Given the description of an element on the screen output the (x, y) to click on. 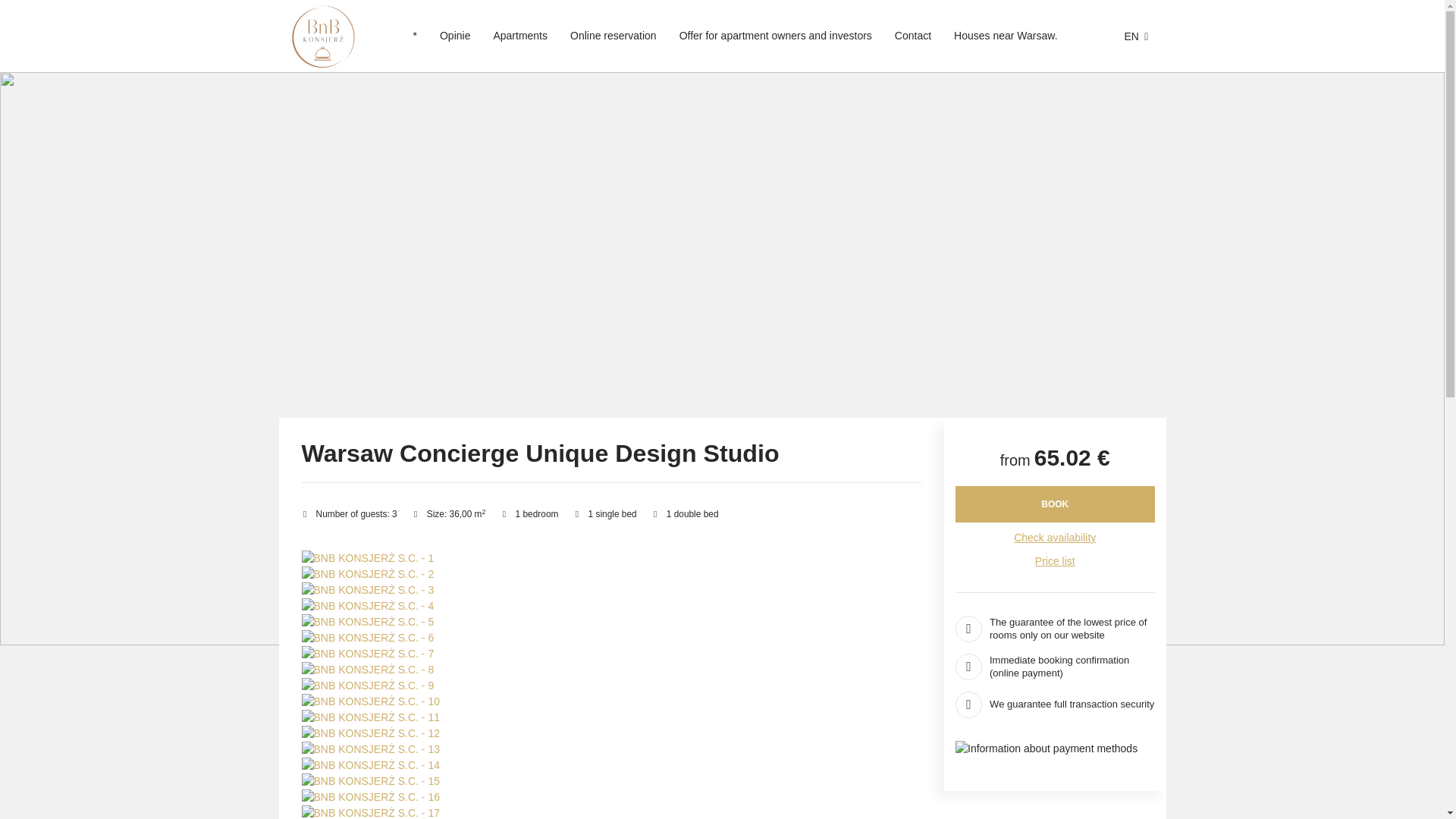
Information about payment methods (1054, 748)
Online reservation (613, 35)
Offer for apartment owners and investors (775, 35)
Contact (912, 35)
Opinie (454, 35)
Houses near Warsaw. (1005, 35)
Apartments (520, 35)
